Given the description of an element on the screen output the (x, y) to click on. 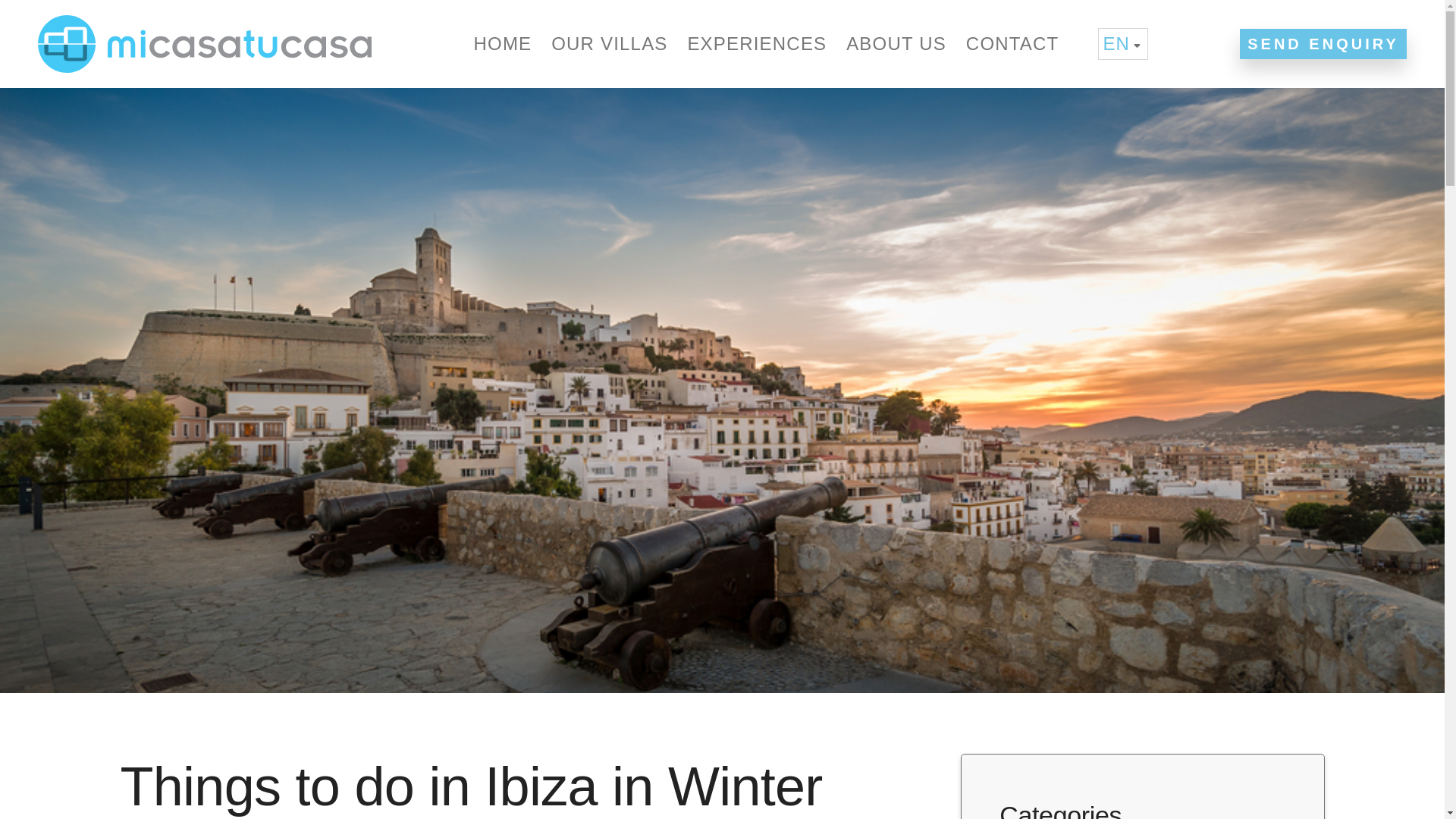
HOME (502, 43)
EXPERIENCES (756, 43)
OUR VILLAS (609, 43)
CONTACT (1012, 43)
EN (1122, 43)
ABOUT US (896, 43)
ES (1122, 73)
SEND ENQUIRY (1323, 43)
